Given the description of an element on the screen output the (x, y) to click on. 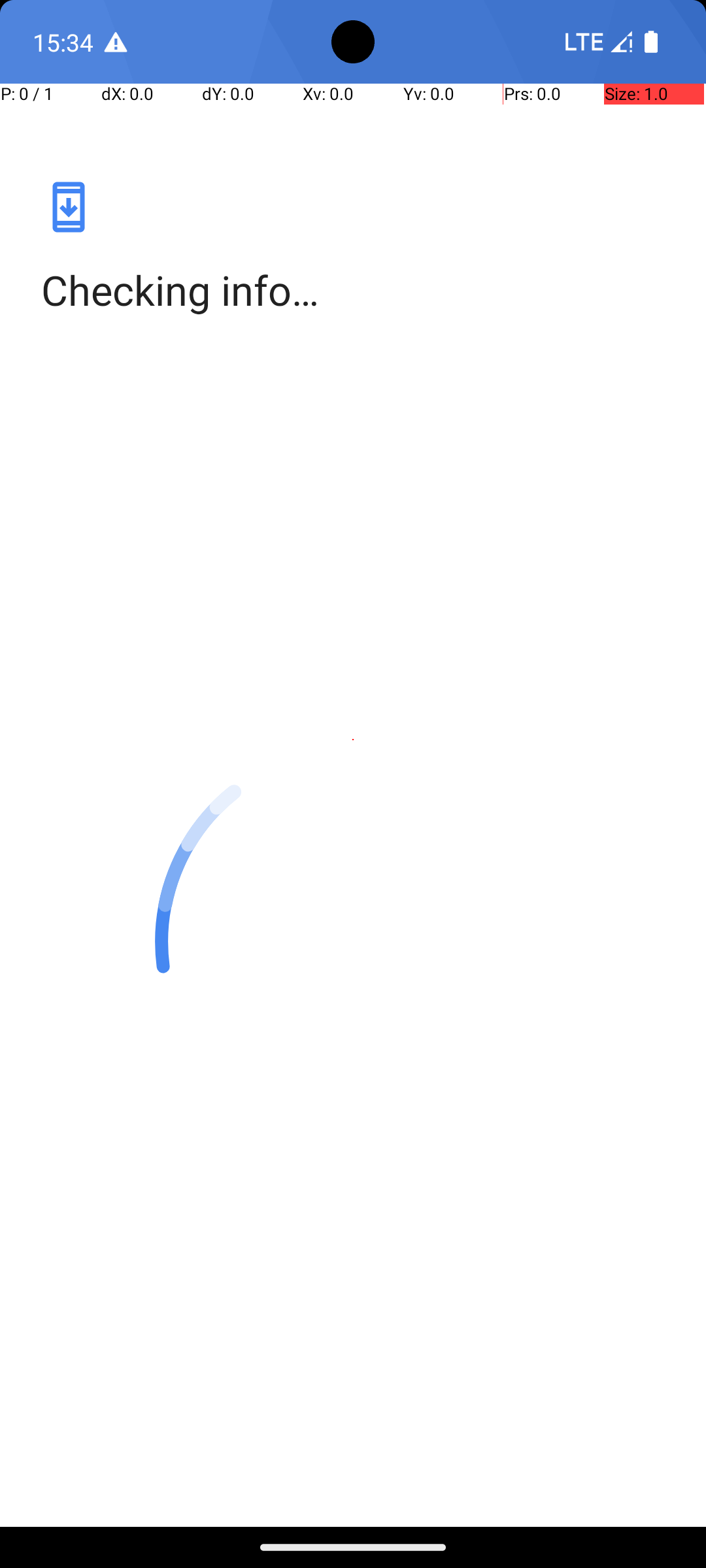
Checking info… Element type: android.widget.TextView (352, 289)
Phone one bar. Element type: android.widget.FrameLayout (595, 41)
